Given the description of an element on the screen output the (x, y) to click on. 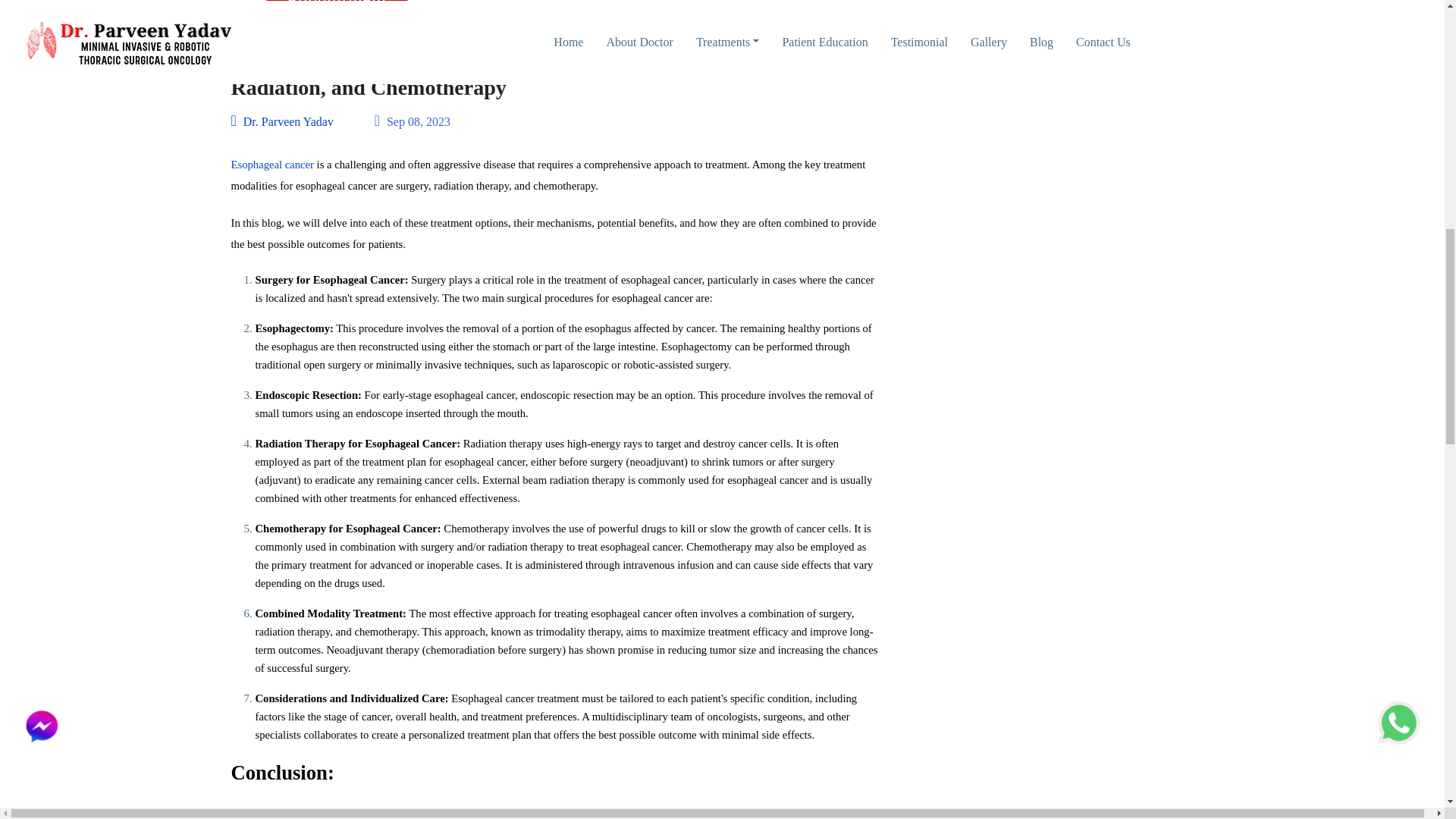
Dr. Parveen Yadav (281, 122)
Esophageal cancer (271, 164)
esophageal cancer (347, 815)
